Given the description of an element on the screen output the (x, y) to click on. 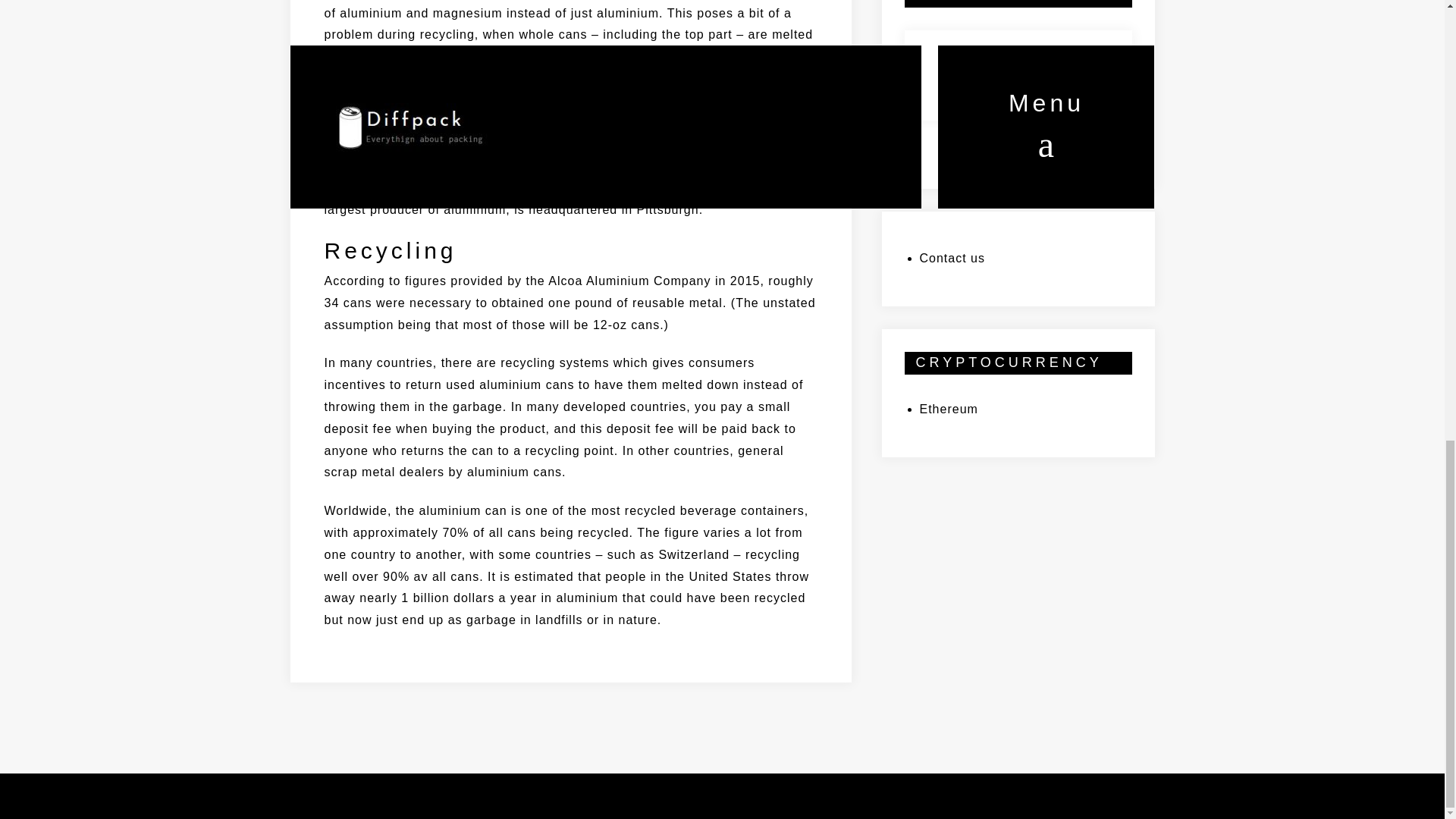
Contact us (951, 257)
Wine bottle (978, 74)
Ethereum (947, 408)
